Given the description of an element on the screen output the (x, y) to click on. 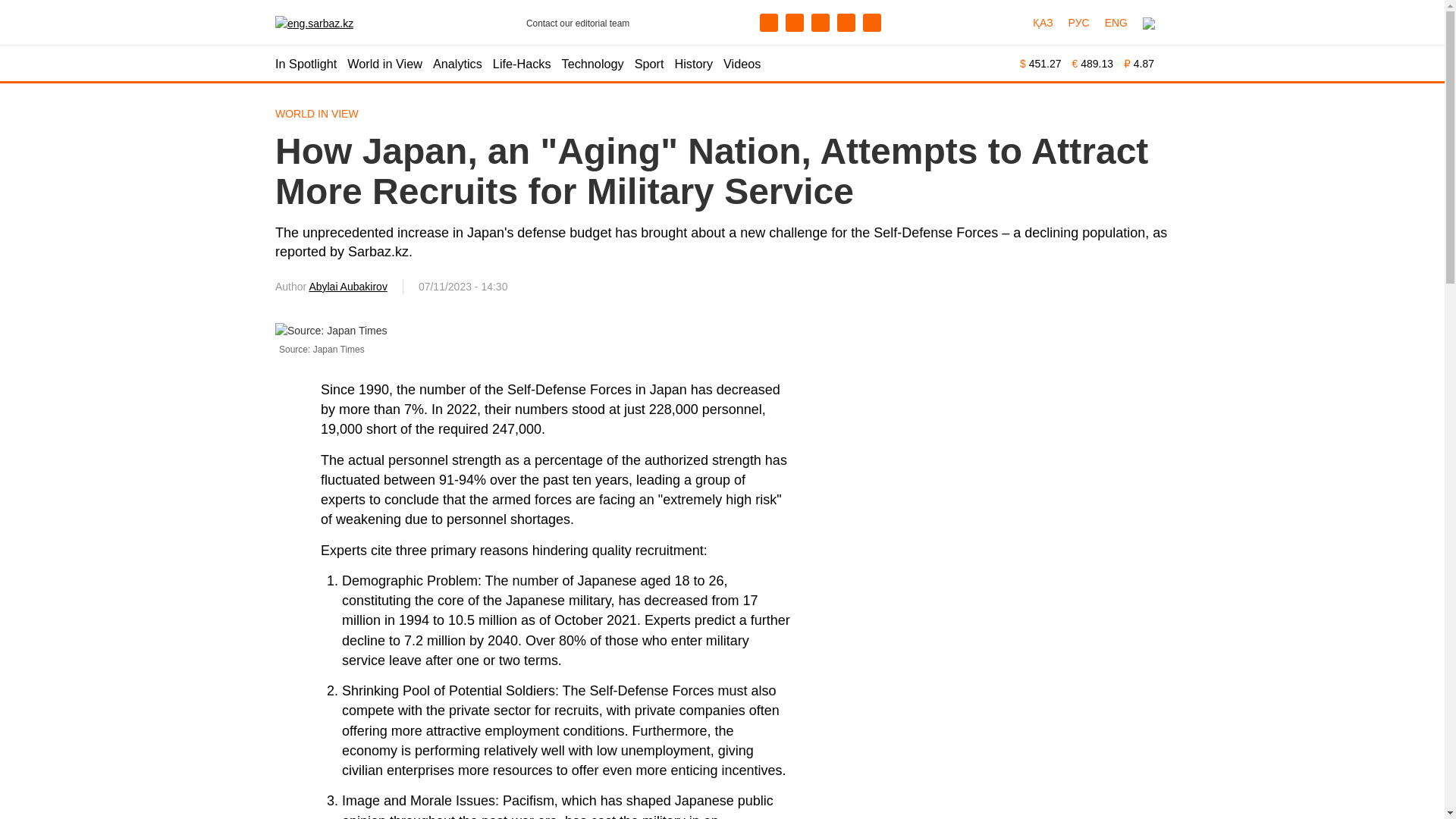
In Spotlight (305, 63)
Life-Hacks (522, 63)
Abylai Aubakirov (347, 286)
WORLD IN VIEW (316, 113)
Sport (648, 63)
World in View (384, 63)
Videos (741, 63)
ENG (1115, 22)
History (694, 63)
Contact our editorial team (573, 21)
